Given the description of an element on the screen output the (x, y) to click on. 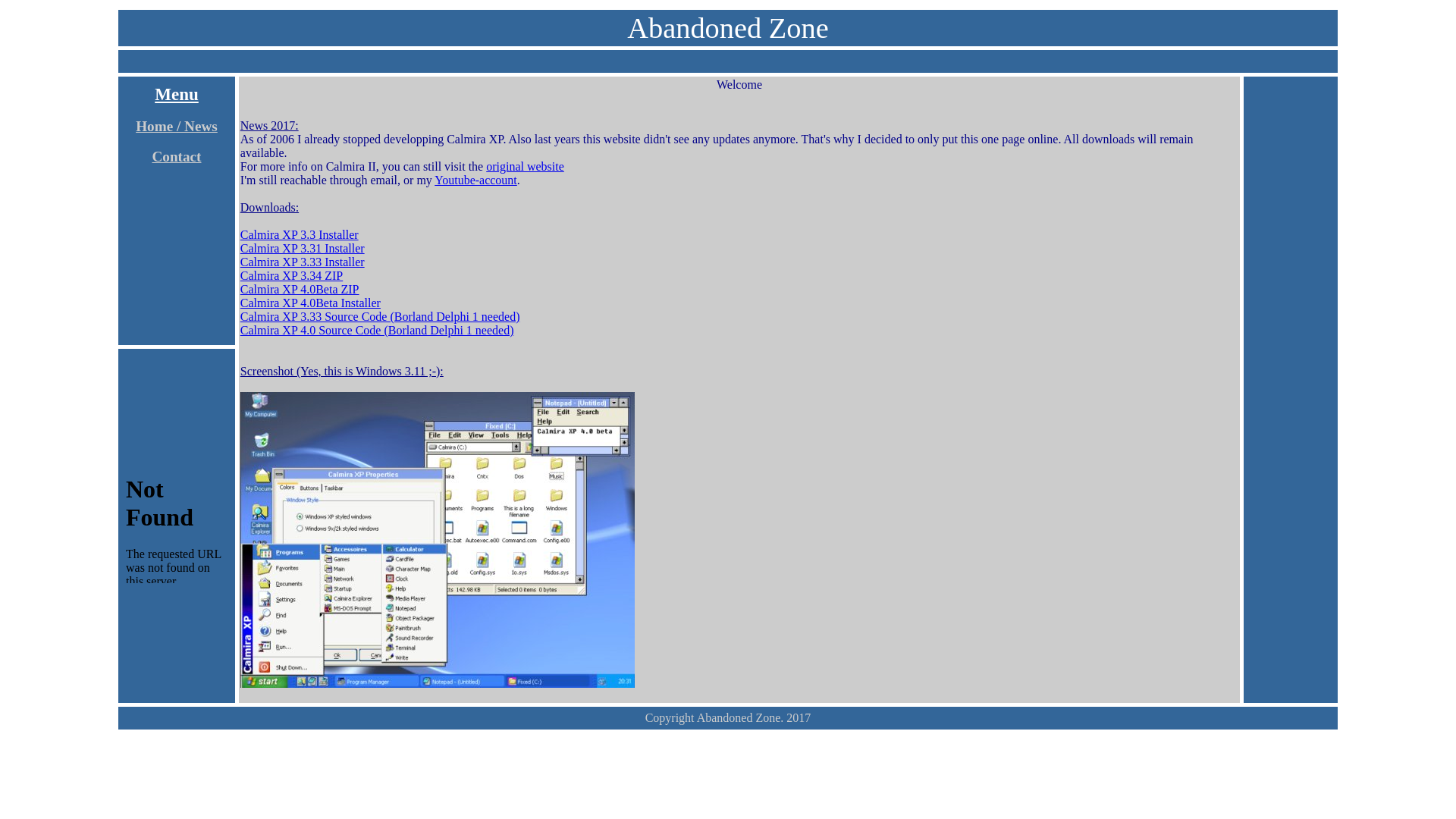
Calmira XP 4.0 Source Code (Borland Delphi 1 needed) Element type: text (377, 329)
Youtube-account Element type: text (475, 179)
Calmira XP 3.33 Source Code (Borland Delphi 1 needed) Element type: text (380, 316)
Calmira XP 3.31 Installer Element type: text (302, 247)
Calmira XP 3.3 Installer Element type: text (299, 234)
Calmira XP 3.33 Installer Element type: text (302, 261)
Calmira XP 4.0Beta Installer Element type: text (310, 302)
Calmira XP 4.0Beta ZIP Element type: text (299, 288)
Calmira XP 3.34 ZIP Element type: text (291, 275)
original website Element type: text (525, 166)
